Given the description of an element on the screen output the (x, y) to click on. 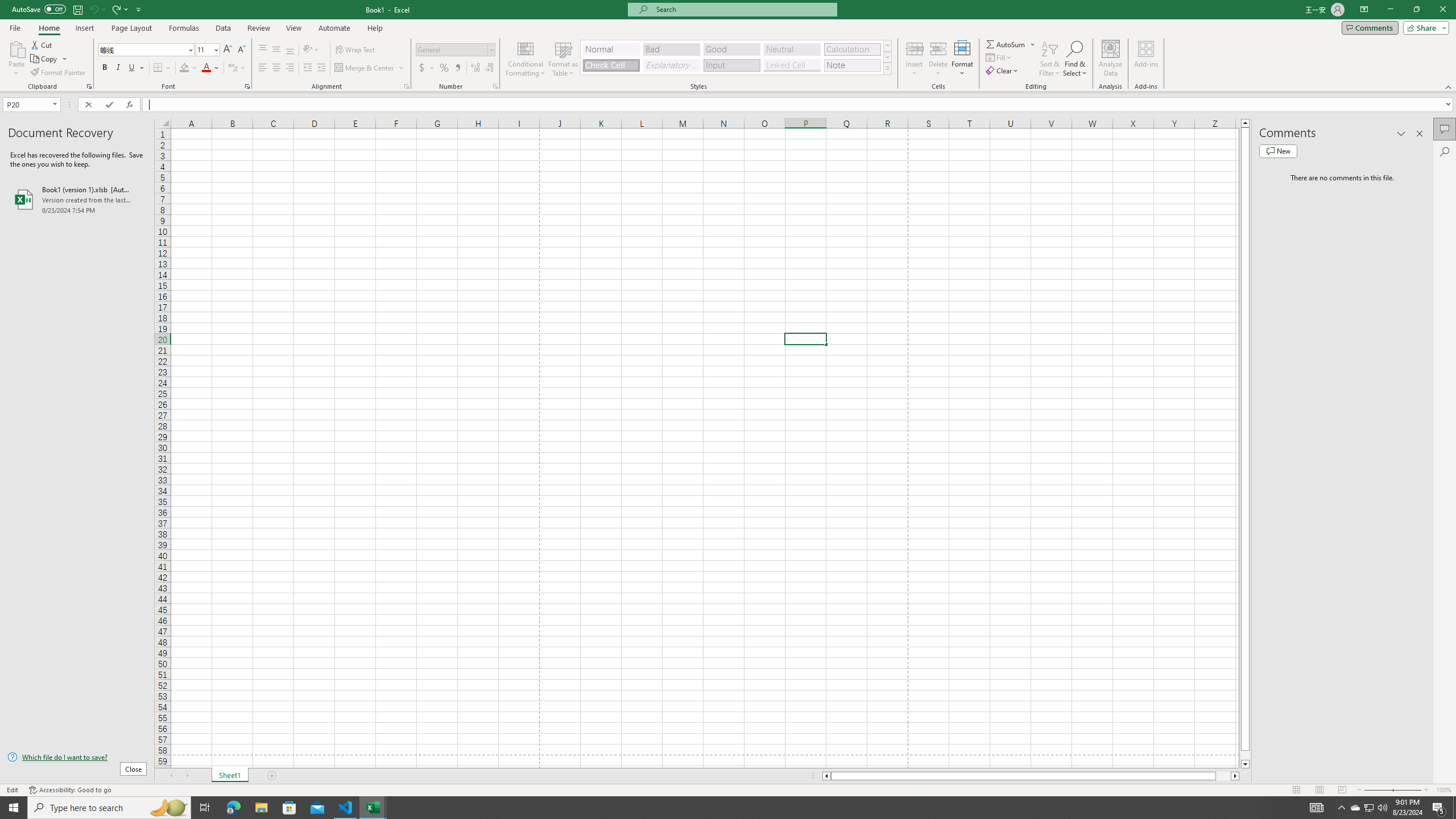
Note (852, 65)
Fill Color RGB(255, 255, 0) (183, 67)
Decrease Decimal (489, 67)
Decrease Indent (307, 67)
Percent Style (443, 67)
Show Phonetic Field (231, 67)
